Given the description of an element on the screen output the (x, y) to click on. 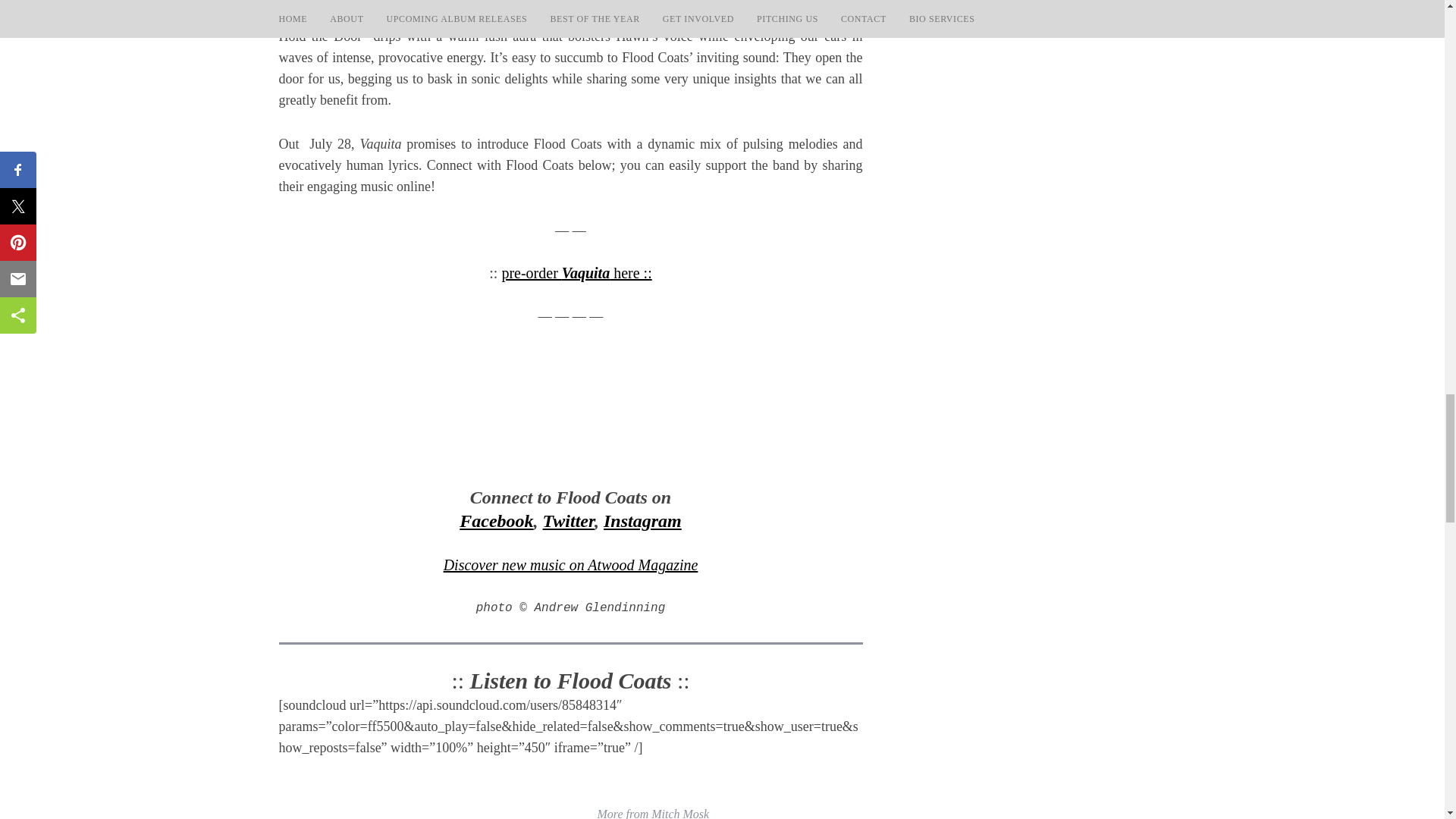
Facebook (496, 520)
pre-order Vaquita here :: (575, 272)
Instagram (642, 520)
Twitter (568, 520)
